Given the description of an element on the screen output the (x, y) to click on. 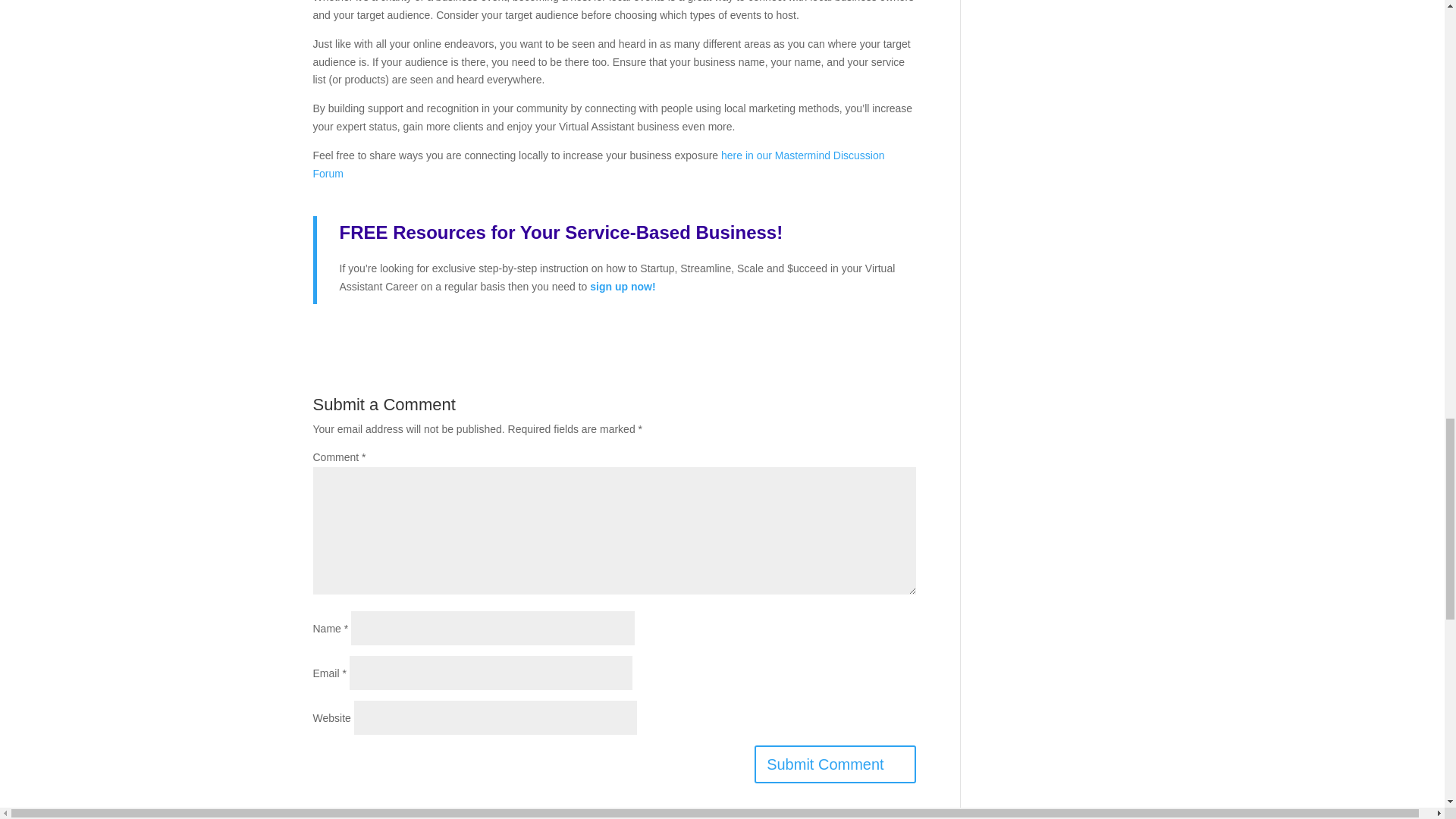
here in our Mastermind Discussion Forum (598, 164)
Submit Comment (834, 763)
Submit Comment (834, 763)
sign up now! (622, 286)
